Given the description of an element on the screen output the (x, y) to click on. 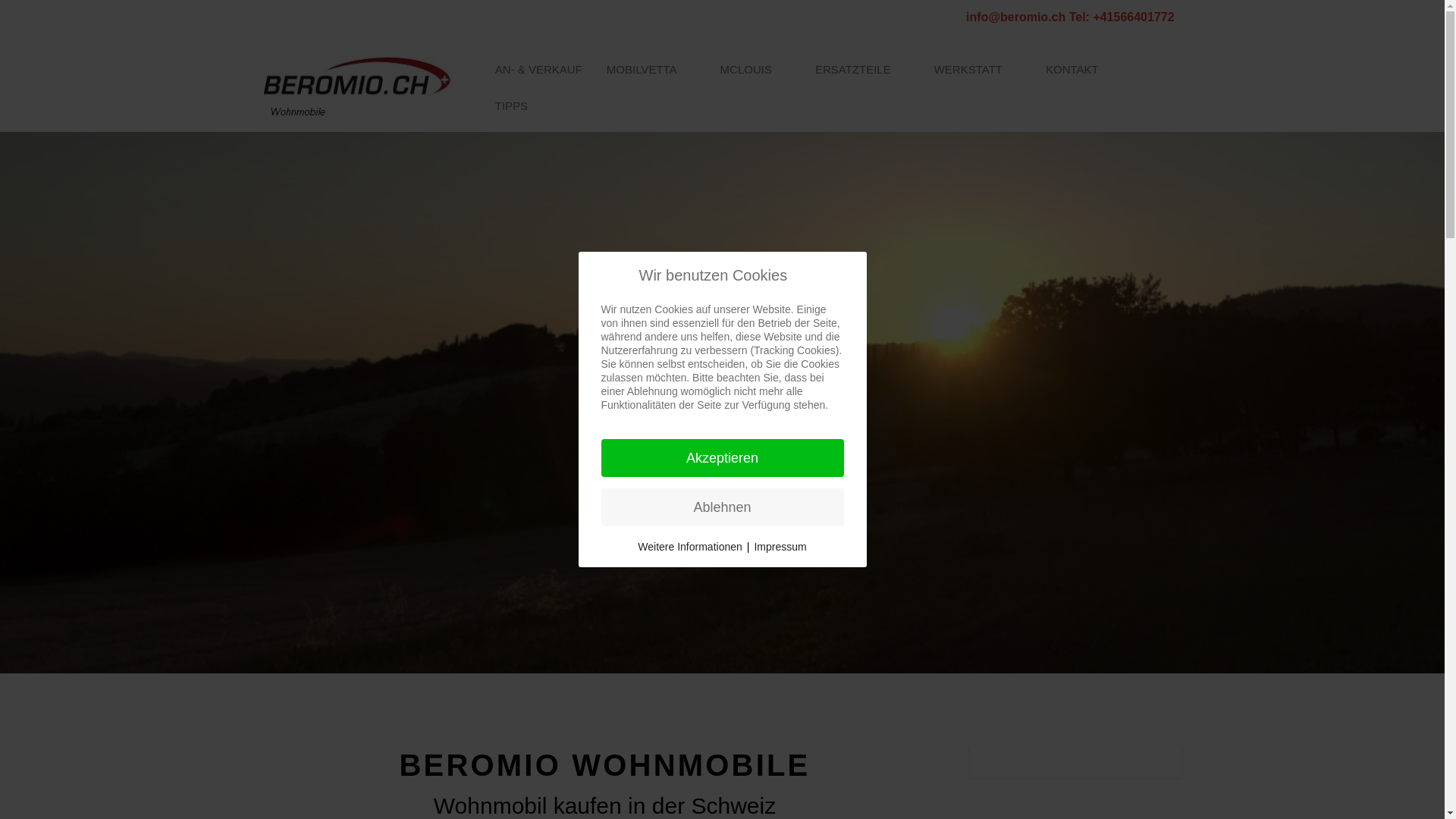
+41566401772   Element type: text (1136, 16)
Impressum Element type: text (779, 546)
info@beromio.ch Element type: text (1017, 16)
ERSATZTEILE Element type: text (862, 69)
MCLOUIS Element type: text (755, 69)
MOBILVETTA Element type: text (651, 69)
AN- & VERKAUF Element type: text (538, 69)
Weitere Informationen Element type: text (689, 546)
Akzeptieren Element type: text (721, 457)
Ablehnen Element type: text (721, 507)
TIPPS Element type: text (520, 106)
WERKSTATT Element type: text (977, 69)
KONTAKT Element type: text (1071, 69)
